Given the description of an element on the screen output the (x, y) to click on. 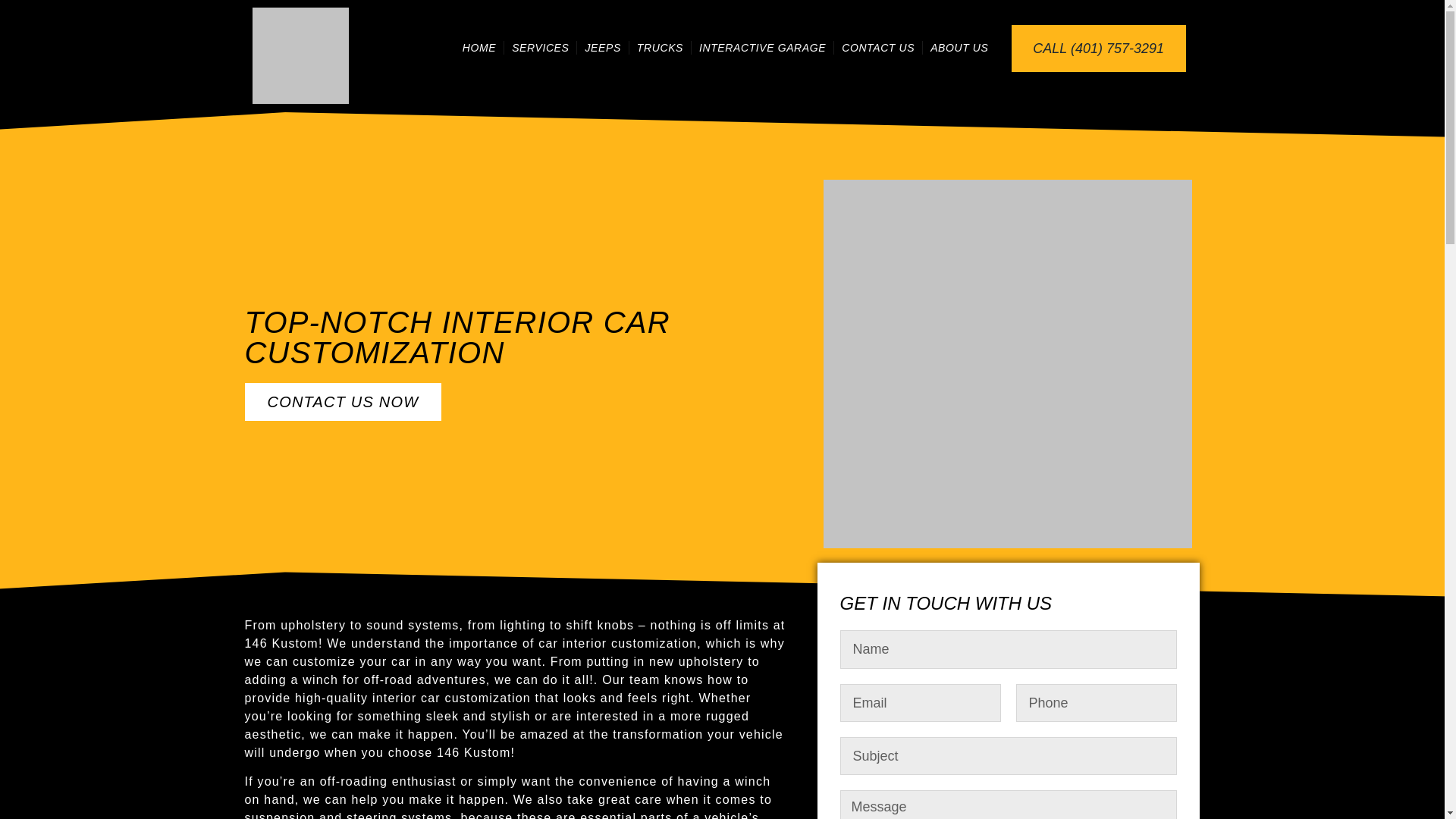
SERVICES (539, 47)
HOME (478, 47)
CONTACT US NOW (342, 401)
INTERACTIVE GARAGE (761, 47)
CONTACT US (877, 47)
TRUCKS (659, 47)
JEEPS (601, 47)
ABOUT US (959, 47)
